Given the description of an element on the screen output the (x, y) to click on. 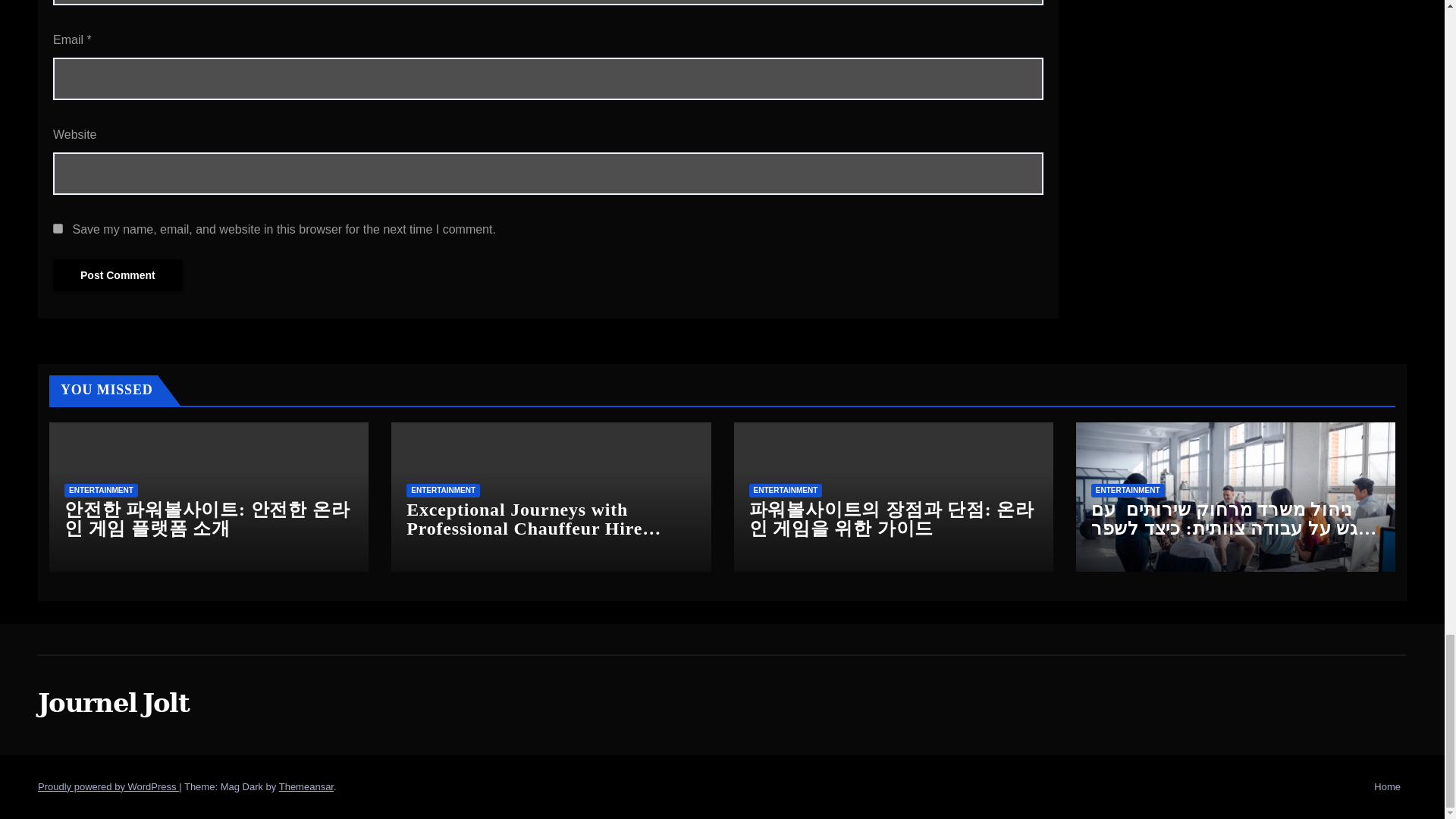
Post Comment (117, 275)
yes (57, 228)
